Given the description of an element on the screen output the (x, y) to click on. 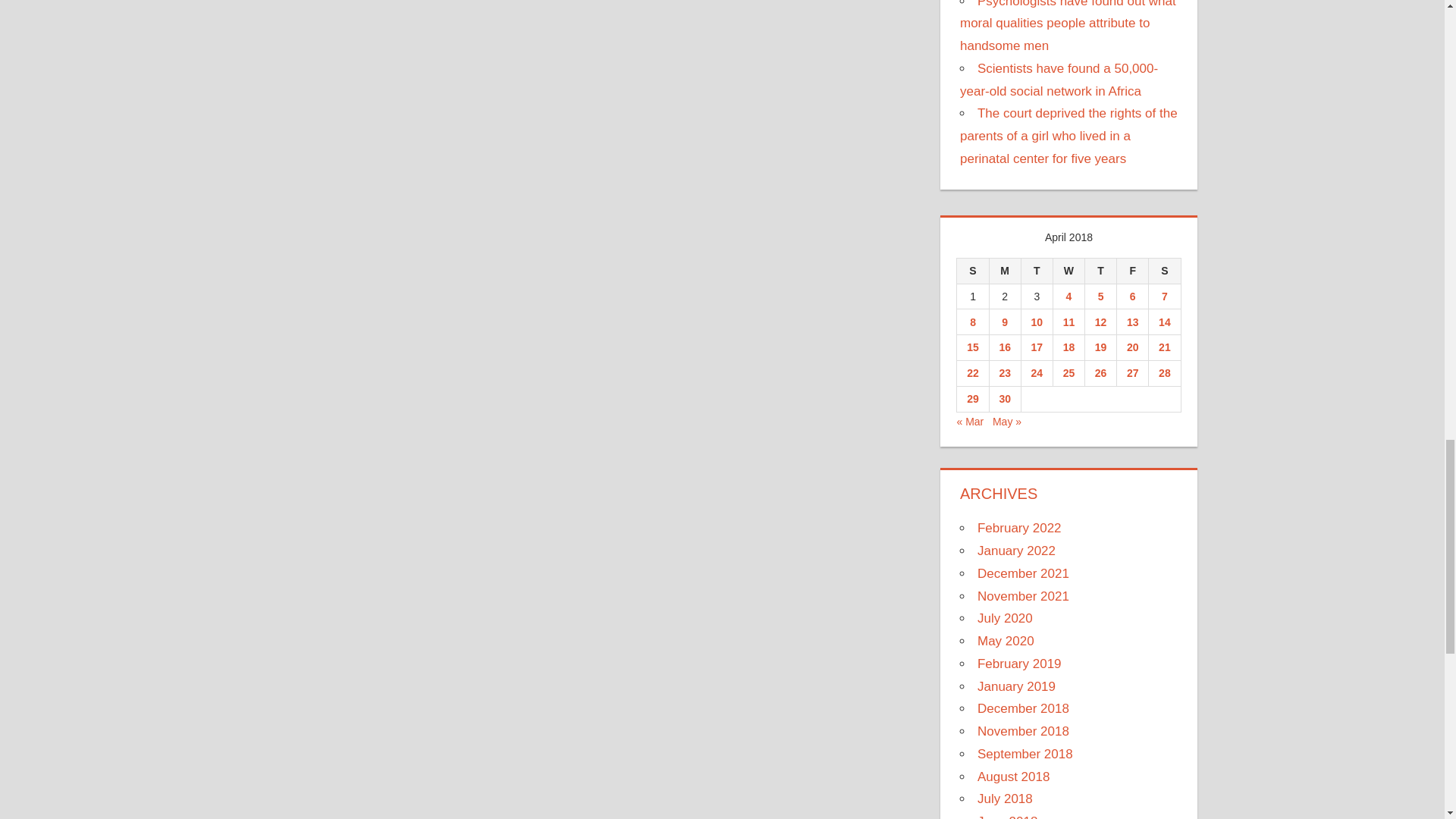
Wednesday (1068, 270)
Tuesday (1036, 270)
Sunday (972, 270)
Saturday (1164, 270)
Friday (1132, 270)
Monday (1004, 270)
Thursday (1100, 270)
